Given the description of an element on the screen output the (x, y) to click on. 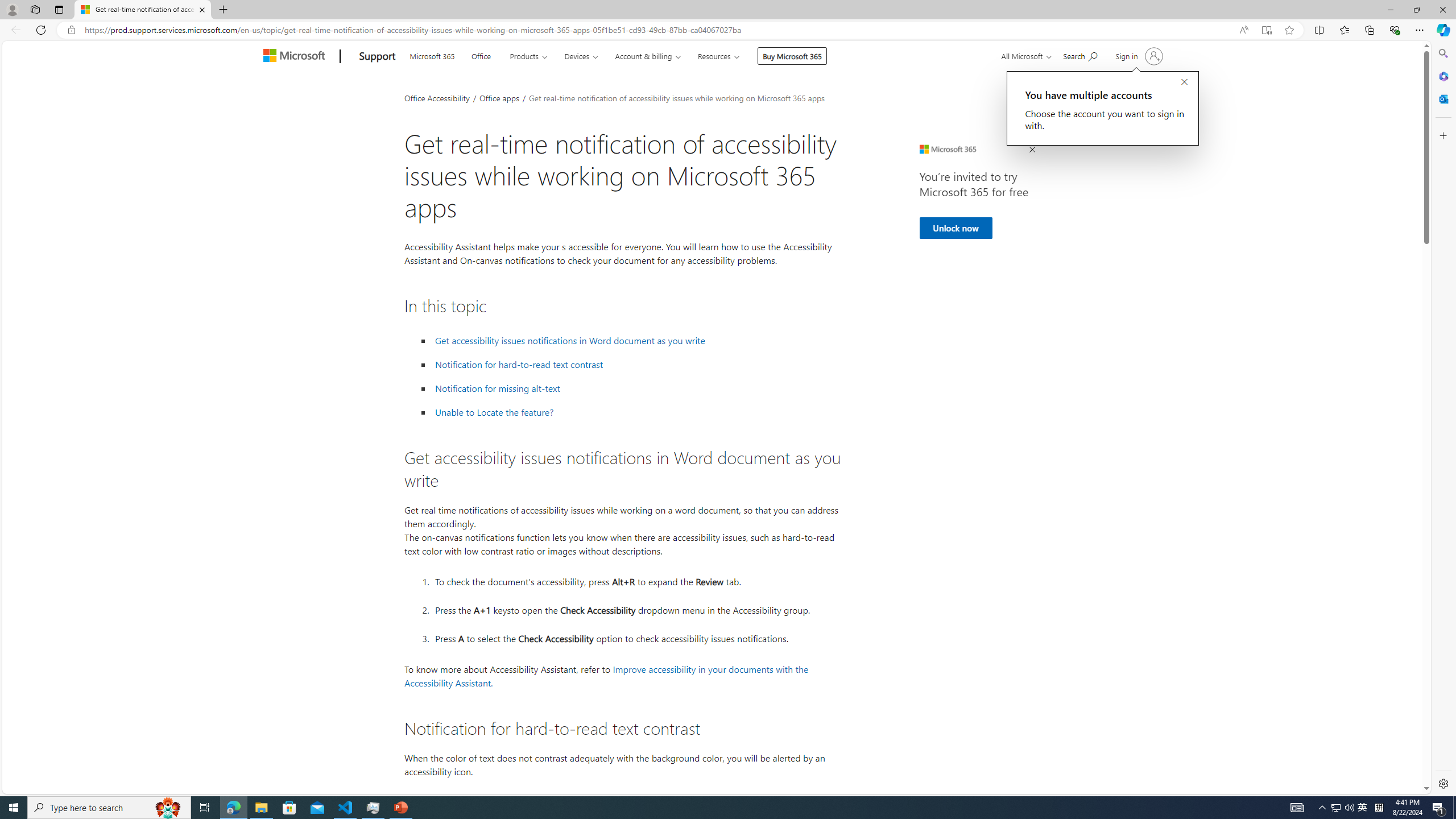
Support (377, 56)
Copilot (Ctrl+Shift+.) (1442, 29)
Split screen (1318, 29)
 Notification for hard-to-read text contrast (518, 364)
 Notification for missing alt-text (497, 388)
Browser essentials (1394, 29)
Microsoft (295, 56)
Close tab (202, 9)
Office (480, 54)
Workspaces (34, 9)
